Given the description of an element on the screen output the (x, y) to click on. 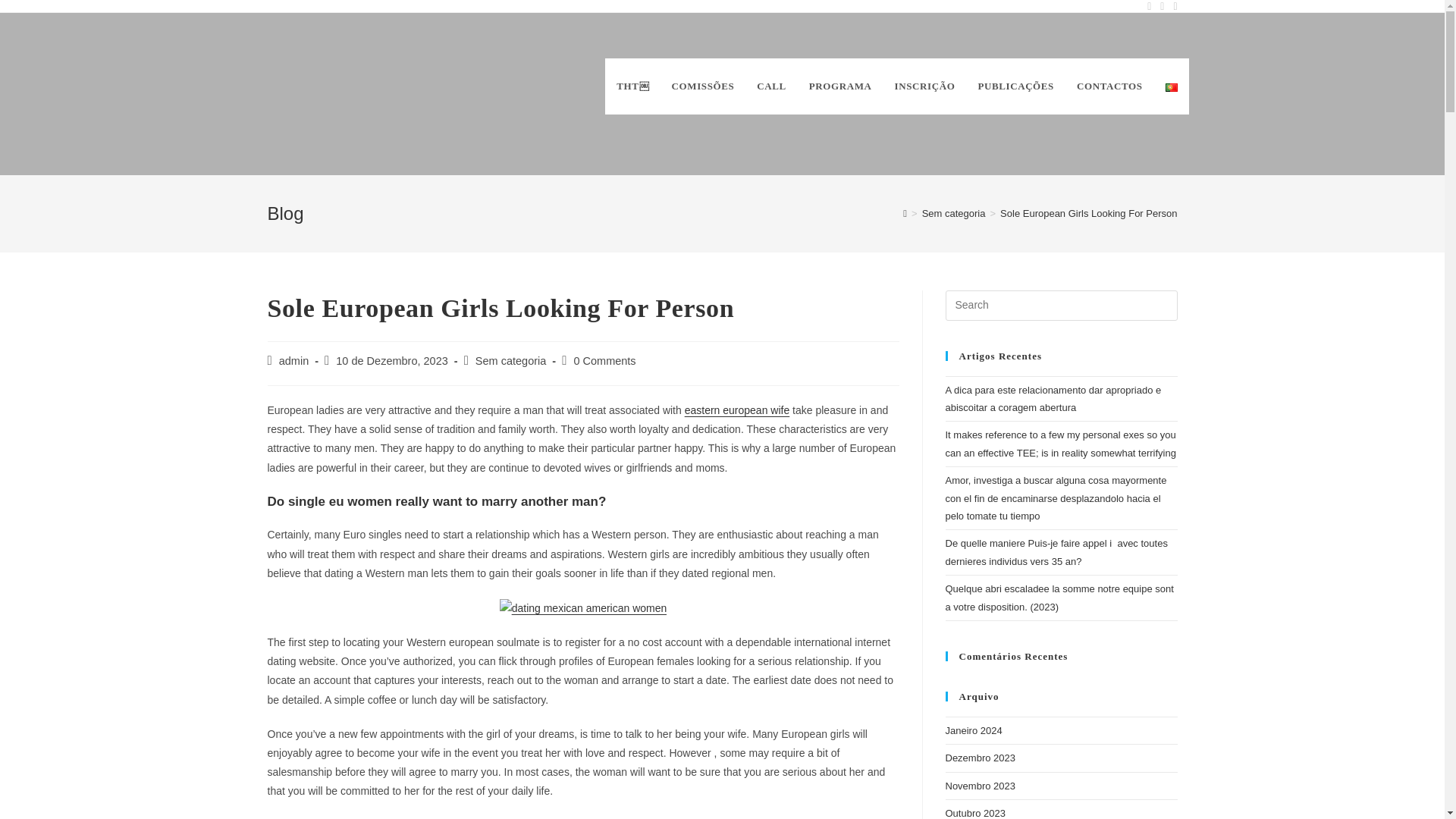
0 Comments (603, 360)
Sem categoria (953, 213)
Sole European Girls Looking For Person (1088, 213)
admin (293, 360)
CALL (771, 86)
CONTACTOS (1109, 86)
eastern european wife (737, 410)
Sem categoria (511, 360)
Artigos de admin (293, 360)
PROGRAMA (840, 86)
